Given the description of an element on the screen output the (x, y) to click on. 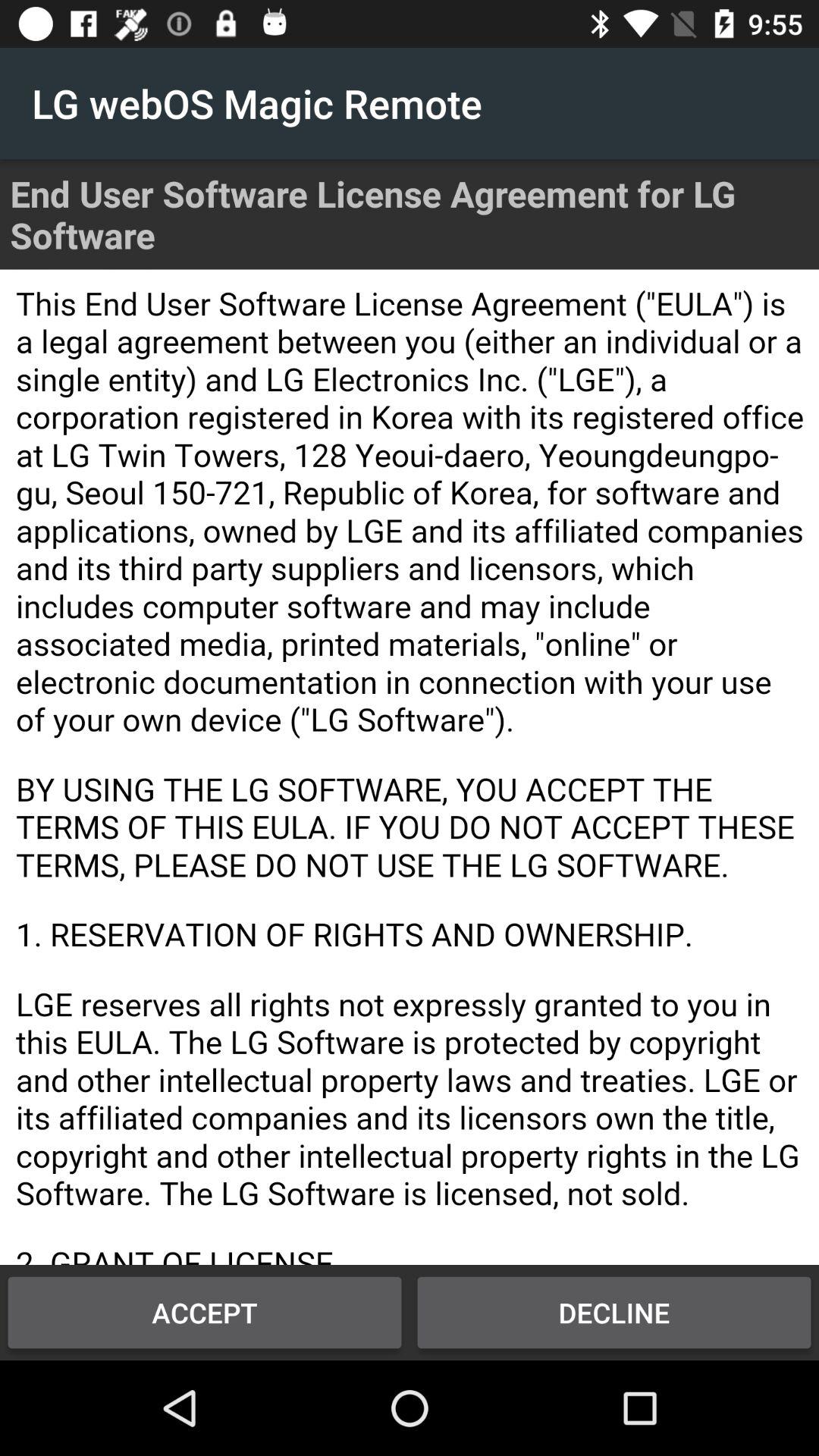
license agreement for software (409, 766)
